Given the description of an element on the screen output the (x, y) to click on. 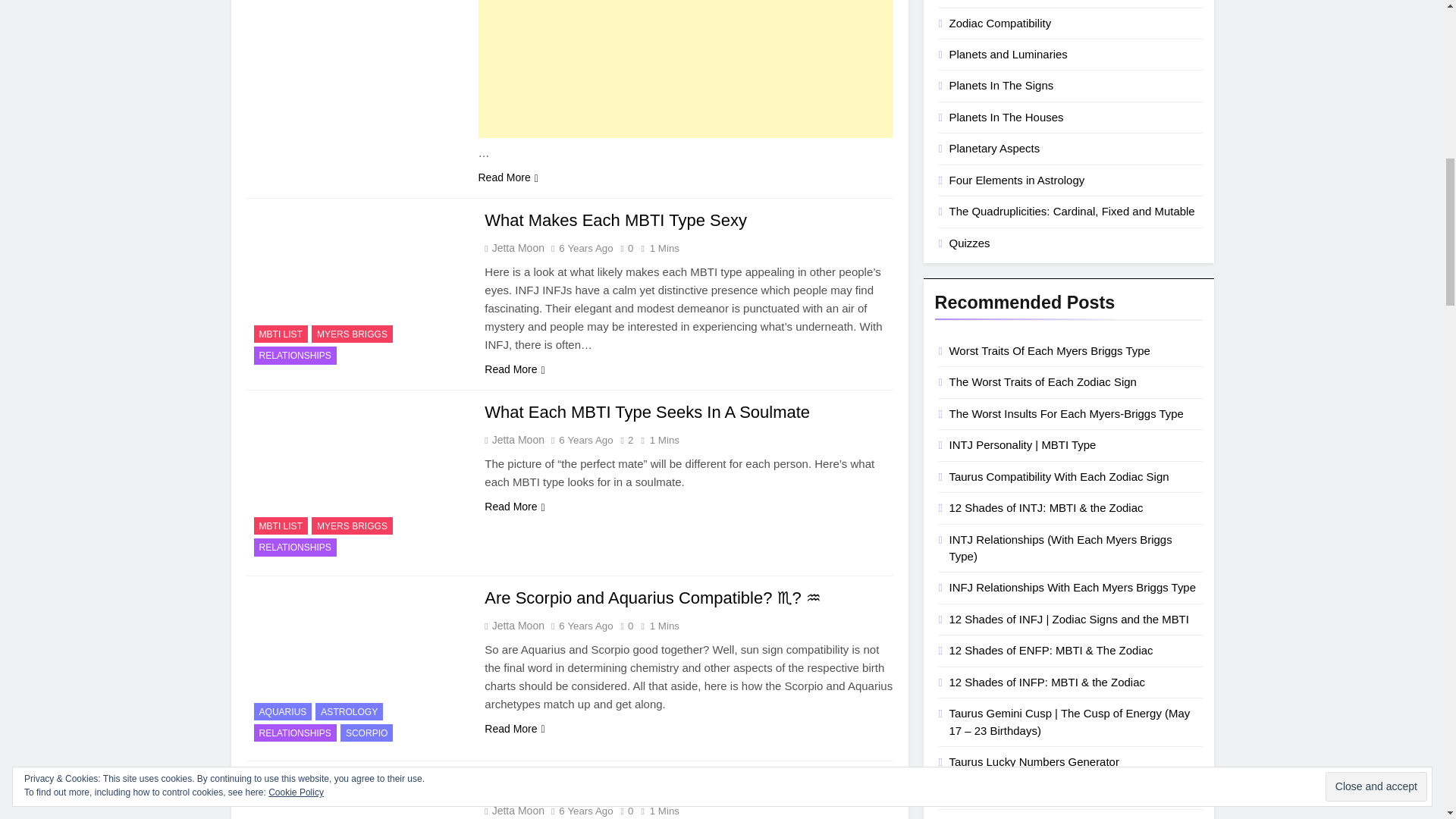
What Each MBTI Type Seeks In A Soulmate (355, 482)
What Makes Each MBTI Type Sexy (355, 290)
What Each MBTI Type Seeks In A Soulmate (646, 411)
Advertisement (684, 69)
What Makes Each MBTI Type Sexy (615, 220)
